Given the description of an element on the screen output the (x, y) to click on. 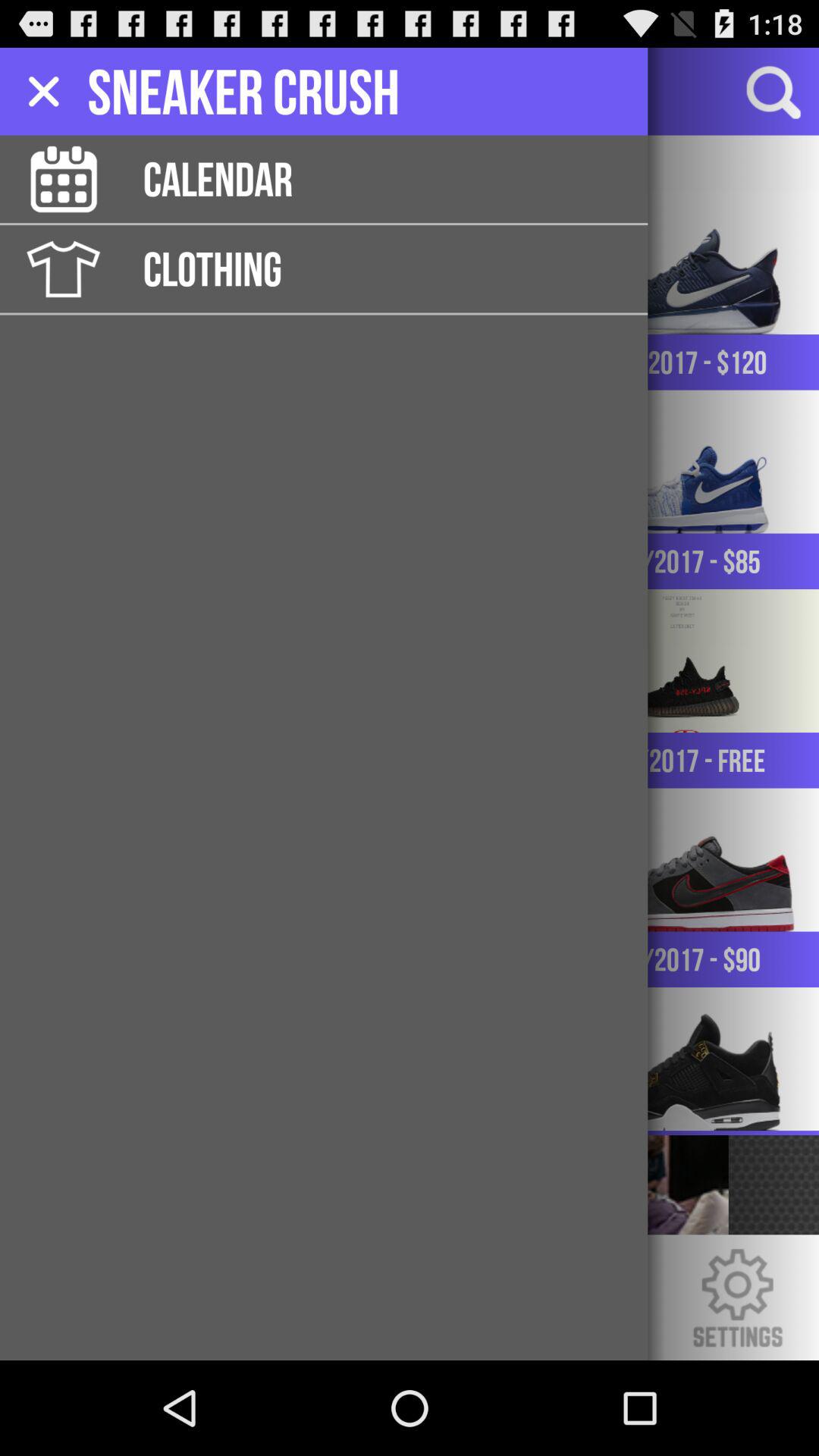
click close button (43, 91)
